Given the description of an element on the screen output the (x, y) to click on. 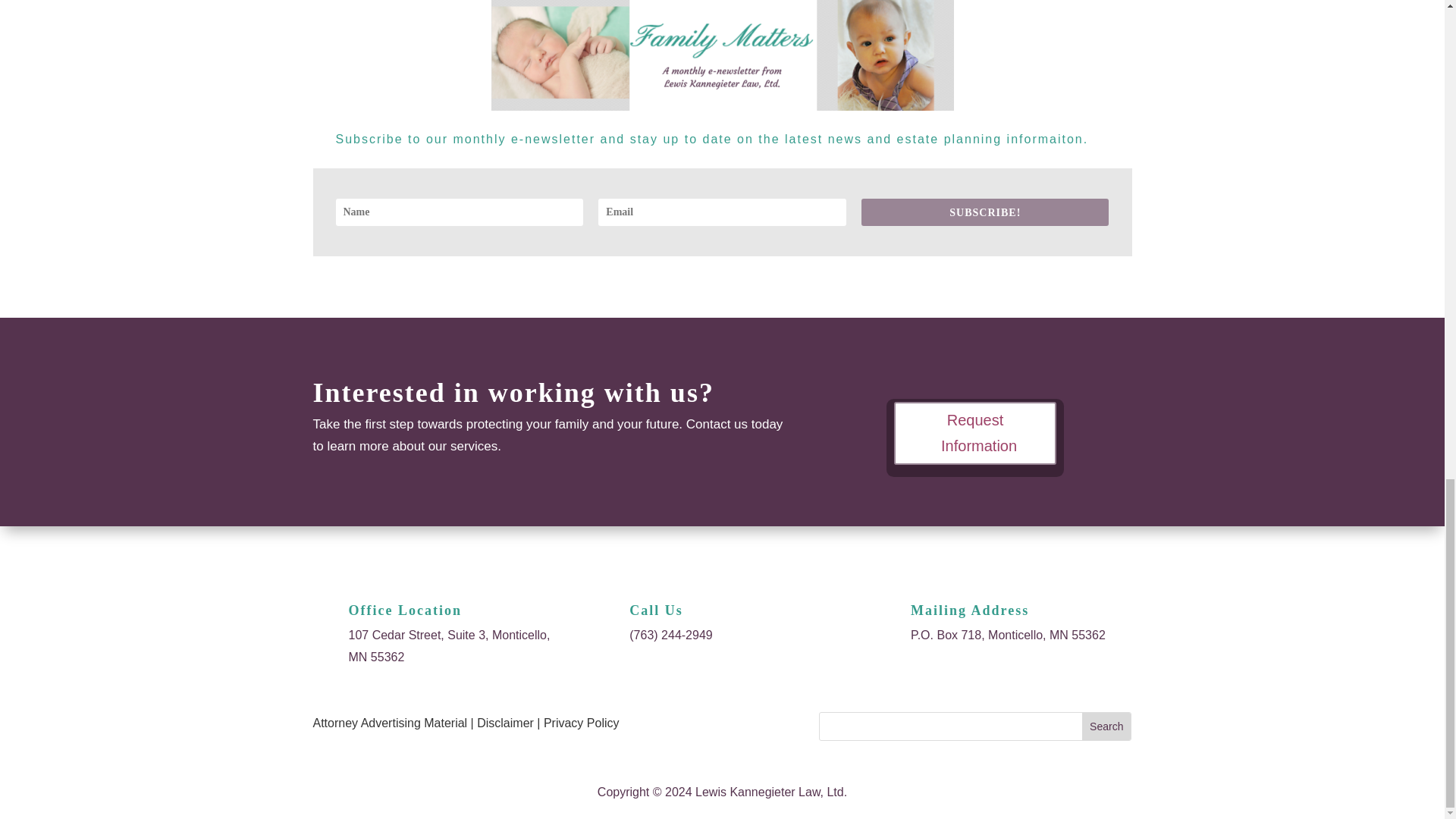
SUBSCRIBE! (984, 212)
Search (1106, 726)
Request Information (975, 433)
Search (1106, 726)
Search (1106, 726)
